Given the description of an element on the screen output the (x, y) to click on. 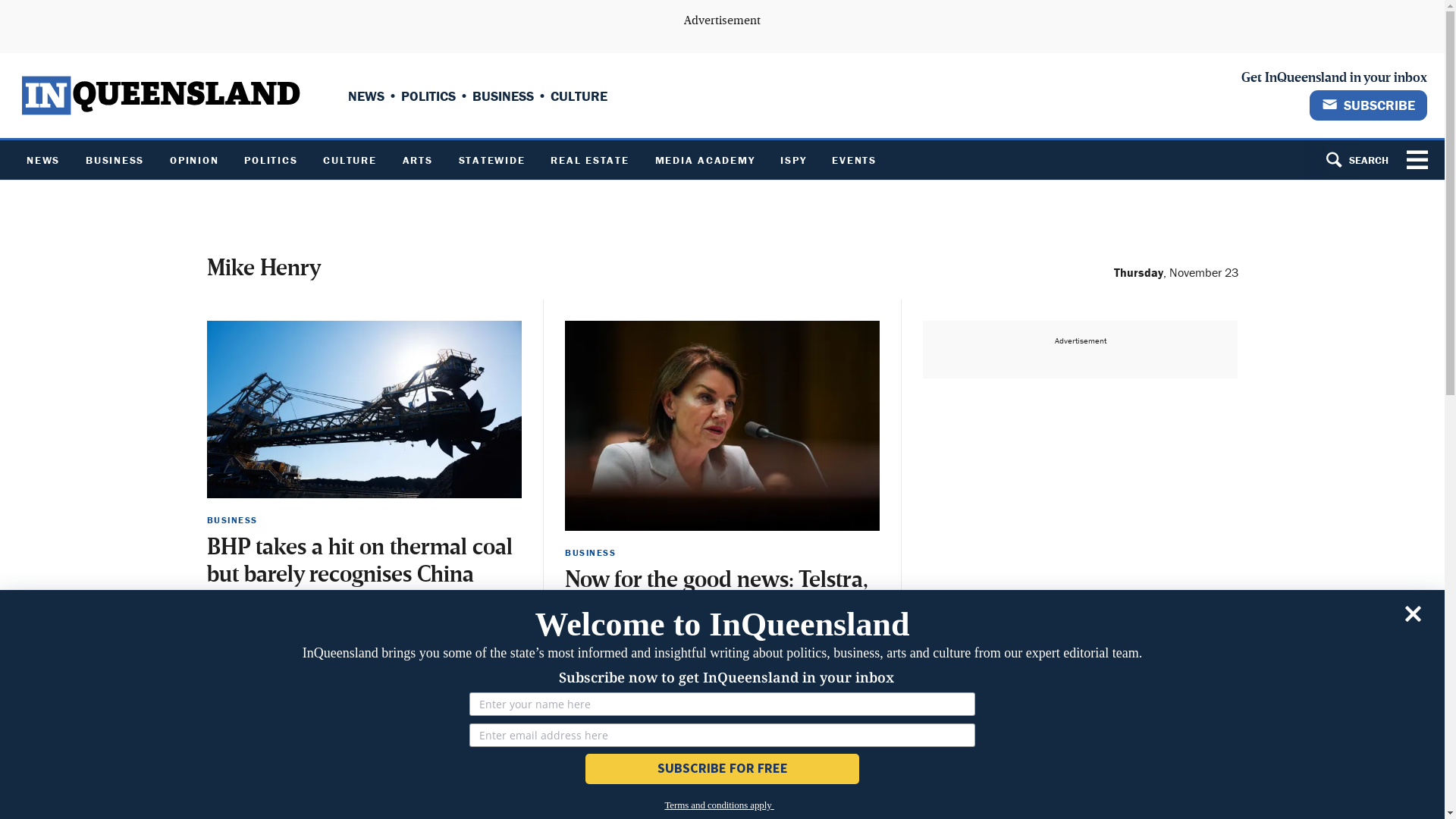
POLITICS Element type: text (270, 159)
OPINION Element type: text (193, 159)
STATEWIDE Element type: text (491, 159)
MEDIA ACADEMY Element type: text (704, 159)
BUSINESS Element type: text (589, 552)
BUSINESS Element type: text (231, 519)
John McCarthy Element type: text (238, 718)
REAL ESTATE Element type: text (589, 159)
ARTS Element type: text (417, 159)
EVENTS Element type: text (854, 159)
SUBSCRIBE FOR FREE Element type: text (722, 768)
BUSINESS Element type: text (114, 159)
ISPY Element type: text (793, 159)
Terms and conditions apply  Element type: text (718, 802)
CULTURE Element type: text (349, 159)
SUBSCRIBE Element type: text (1368, 105)
NEWS Element type: text (42, 159)
John McCarthy Element type: text (596, 730)
Close Element type: hover (1412, 617)
